Given the description of an element on the screen output the (x, y) to click on. 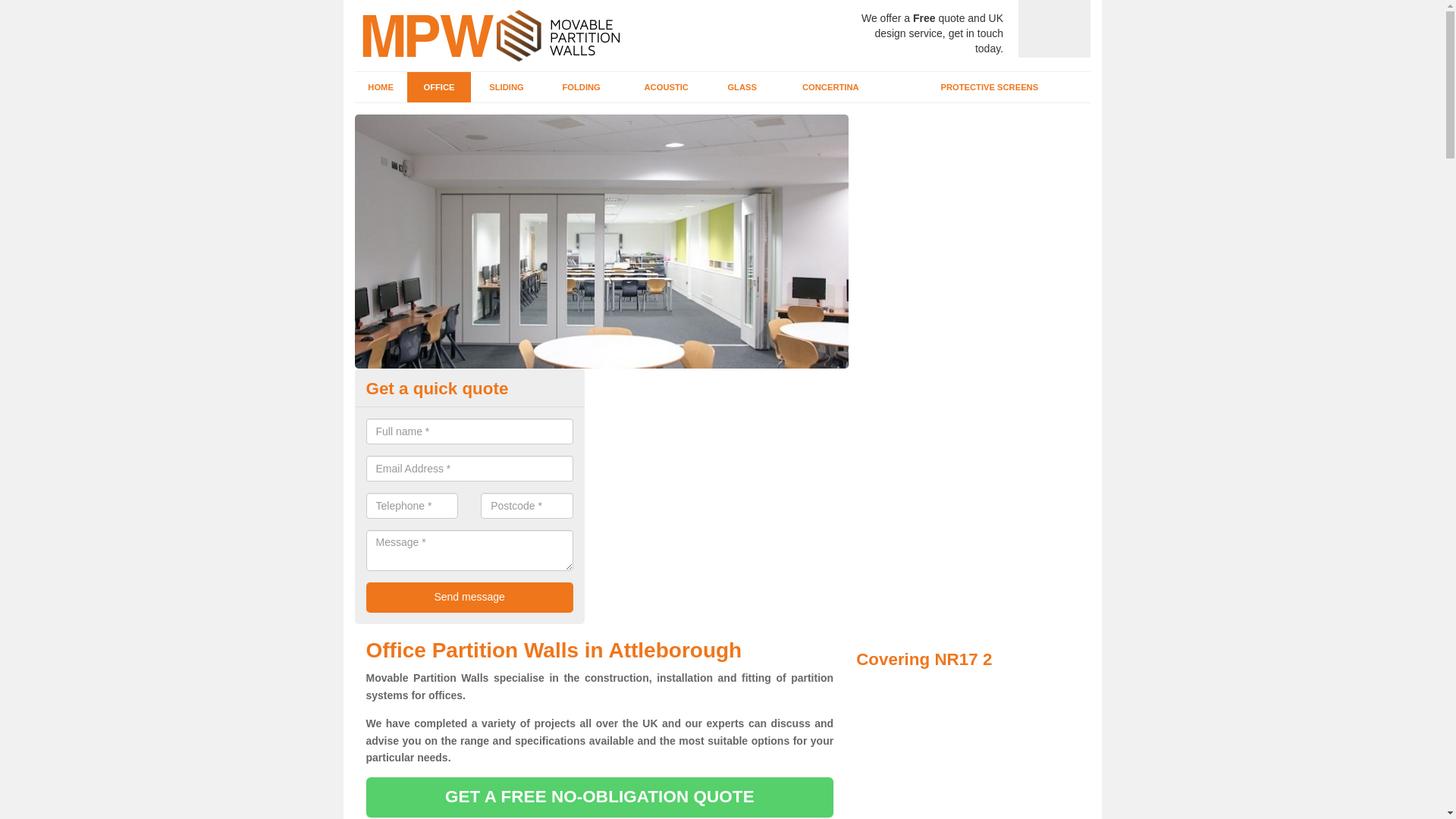
Header (487, 35)
CONCERTINA (829, 87)
FOLDING (581, 87)
OFFICE (439, 87)
GLASS (741, 87)
Send message (468, 597)
HOME (381, 87)
GET A FREE NO-OBLIGATION QUOTE (598, 796)
ACOUSTIC (666, 87)
Send message (468, 597)
PROTECTIVE SCREENS (988, 87)
